Given the description of an element on the screen output the (x, y) to click on. 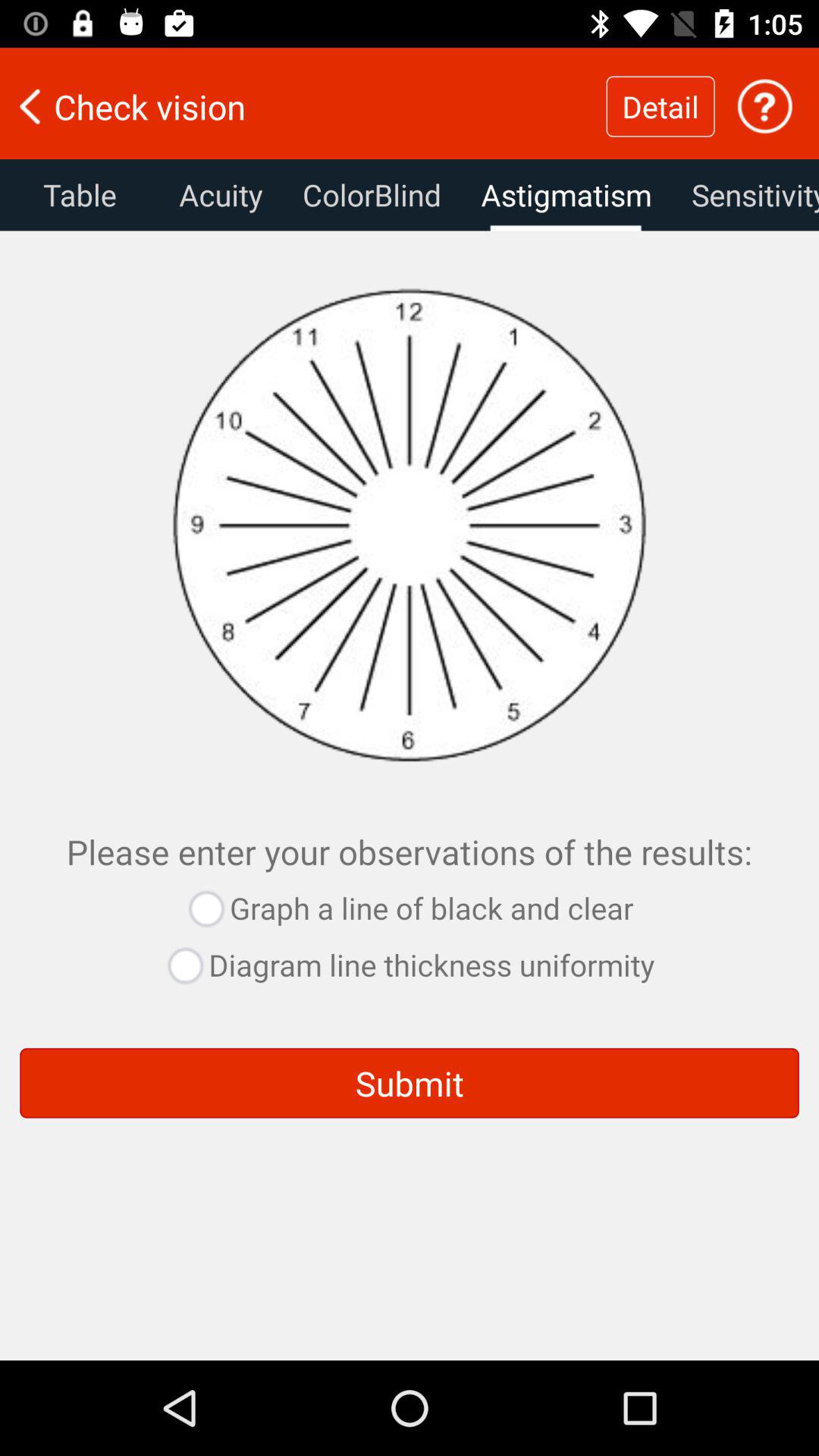
click on the text next to table (220, 194)
select the option which is in the text form astigmatism (566, 194)
select the icon which is to the right side of the detail (765, 105)
click on the diagram line thickness uniformity button (408, 965)
